Given the description of an element on the screen output the (x, y) to click on. 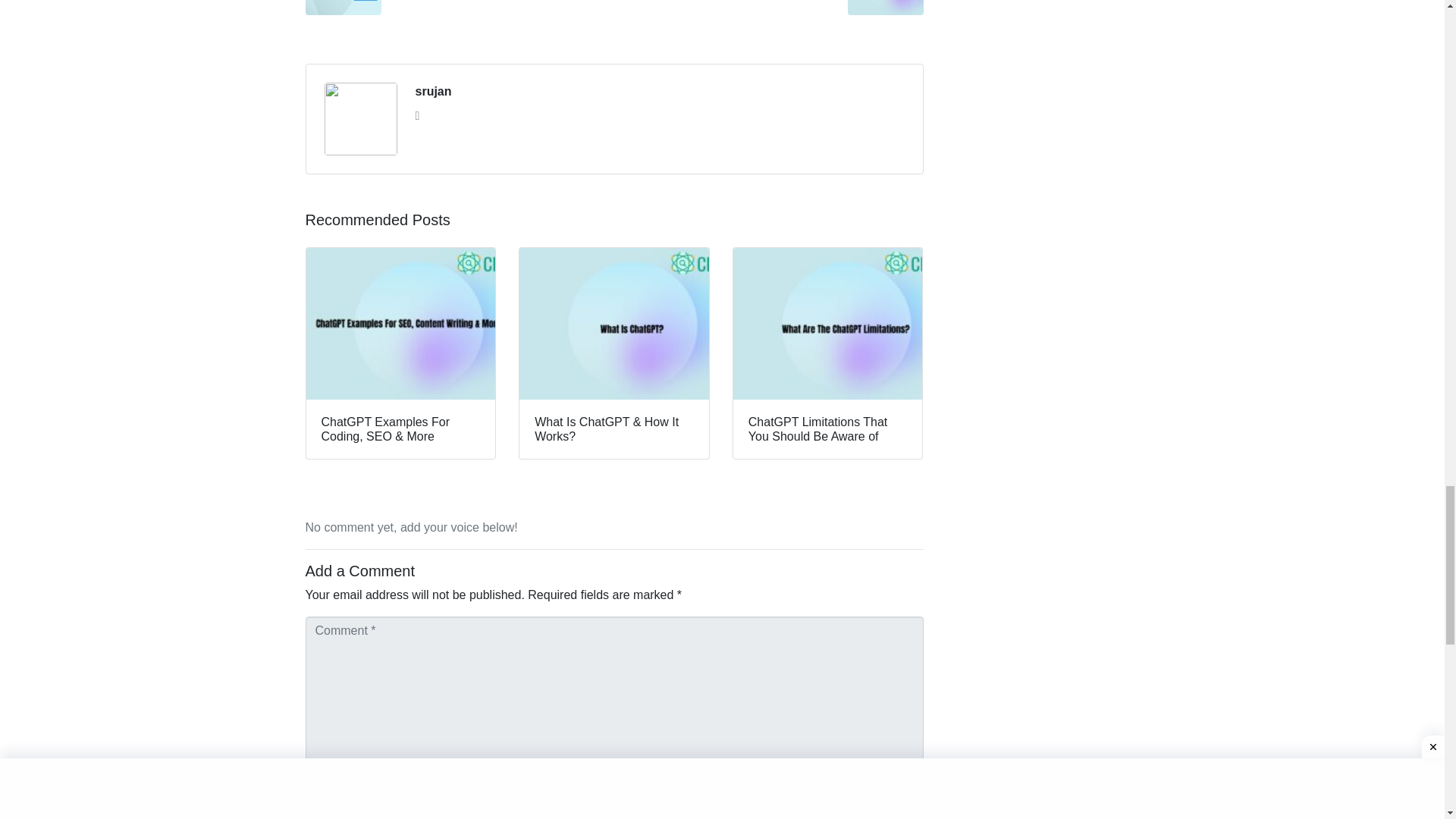
ChatGPT Limitations That You Should Be Aware of (827, 353)
ChatGPT Login Issue Fixed in 10 Ways (774, 7)
srujan (454, 7)
Top 4 ChatGPT Alternatives In 2023 (774, 7)
